Given the description of an element on the screen output the (x, y) to click on. 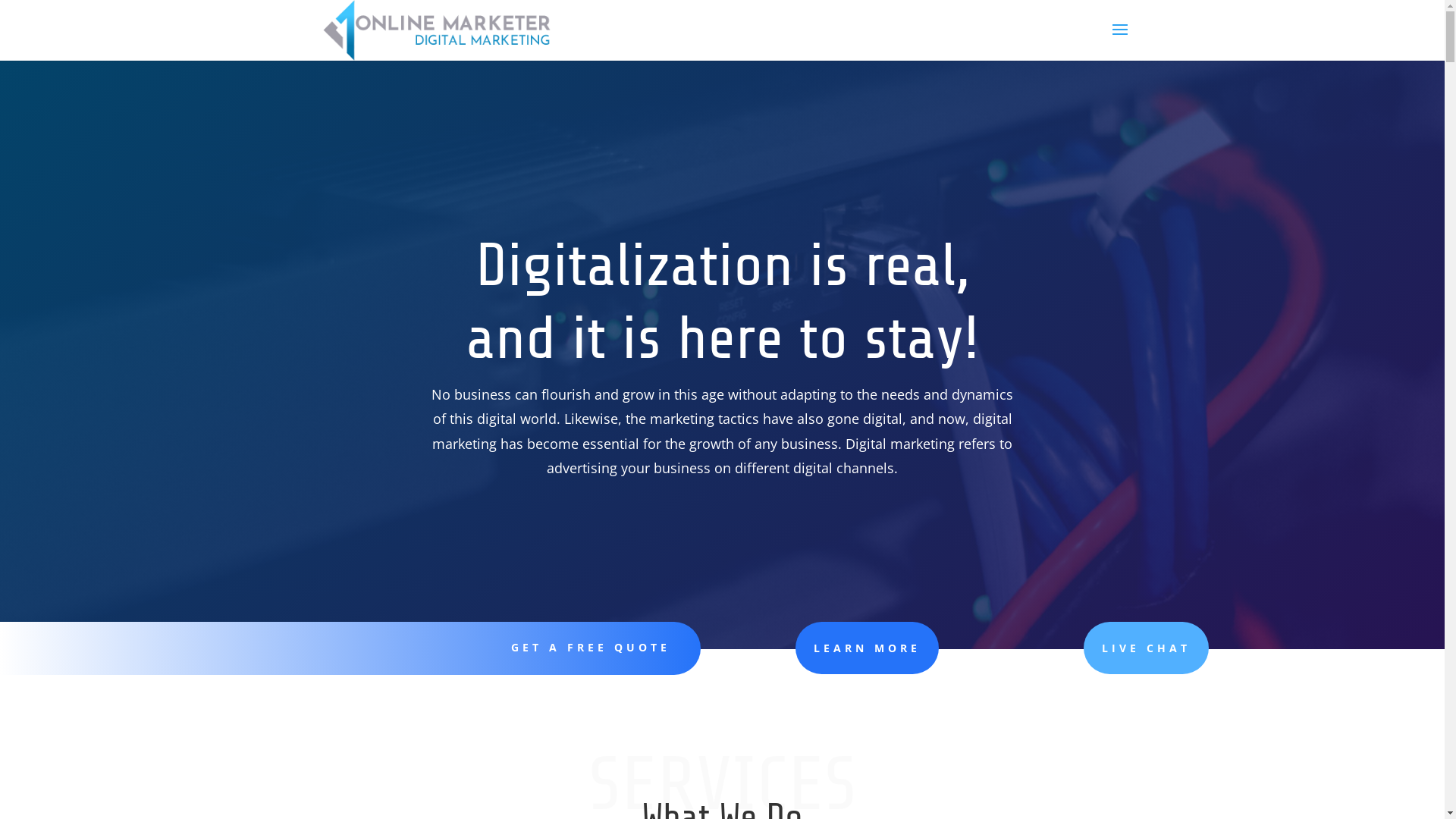
GET A FREE QUOTE Element type: text (590, 647)
LIVE CHAT Element type: text (1145, 647)
LEARN MORE Element type: text (866, 647)
